Given the description of an element on the screen output the (x, y) to click on. 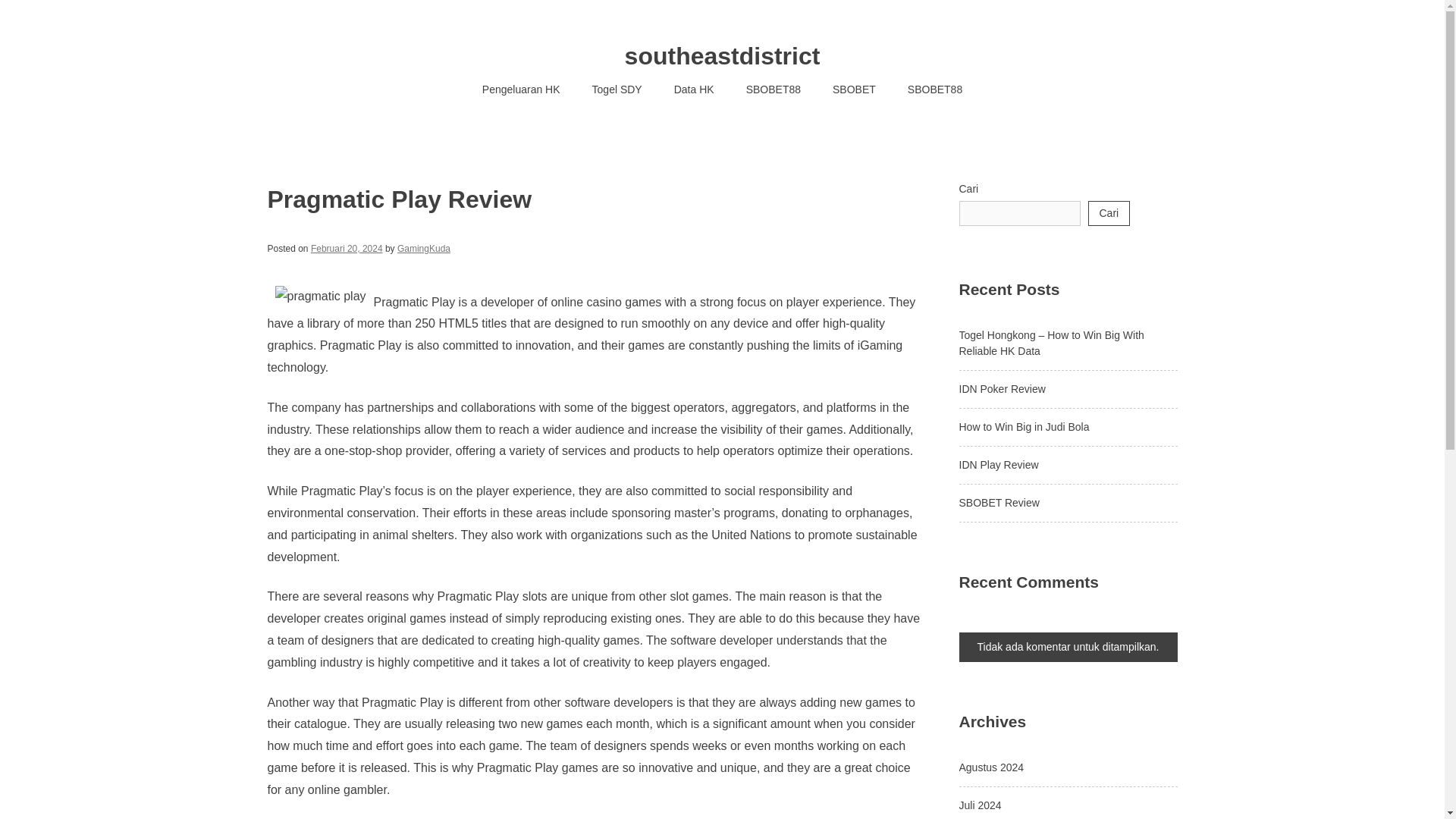
GamingKuda (423, 248)
IDN Poker Review (1001, 388)
Data HK (694, 89)
Cari (1108, 213)
SBOBET88 (773, 89)
Februari 20, 2024 (346, 248)
SBOBET88 (934, 89)
Juli 2024 (979, 805)
Togel SDY (617, 89)
southeastdistrict (722, 55)
